Given the description of an element on the screen output the (x, y) to click on. 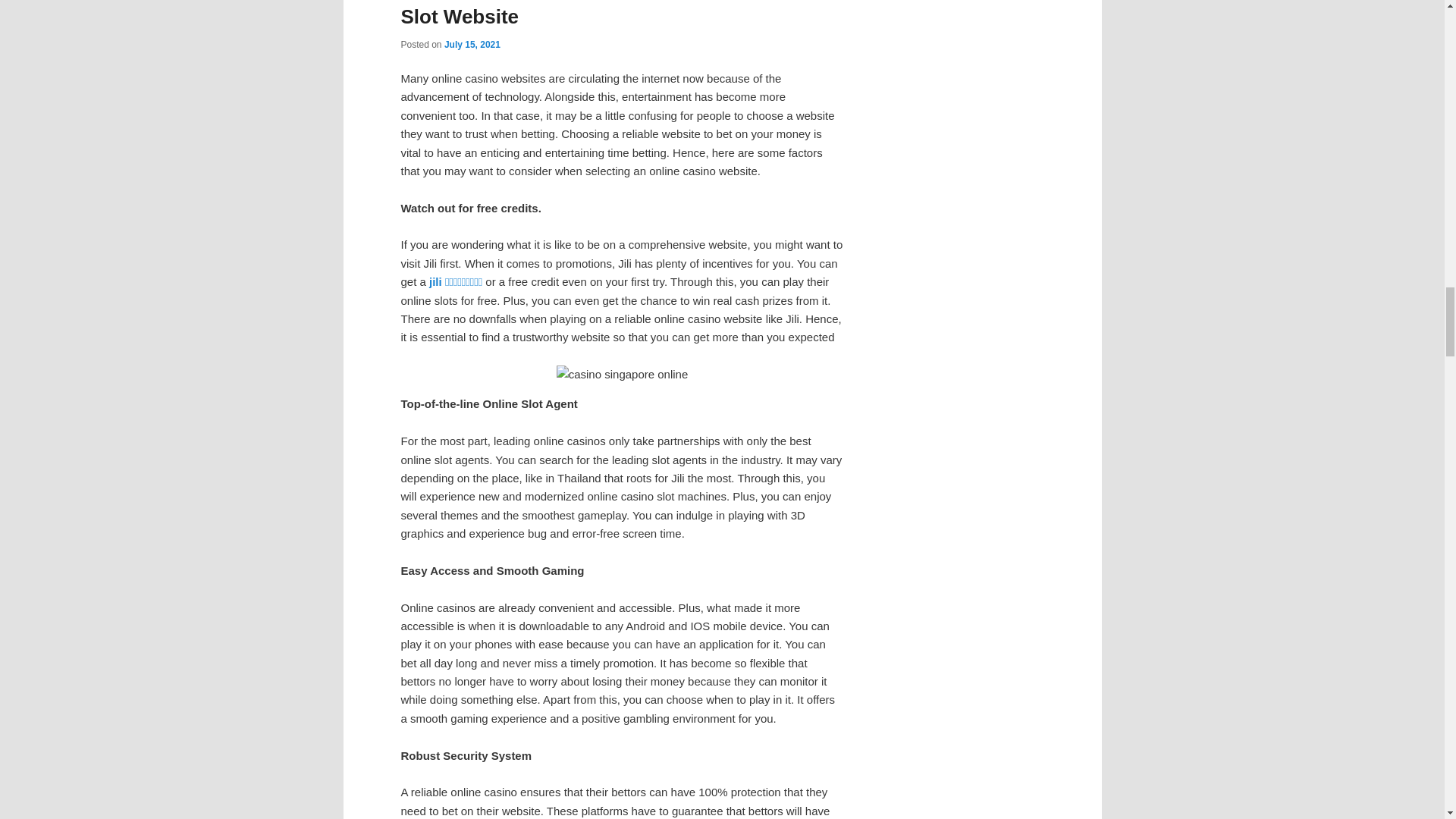
July 15, 2021 (472, 44)
Selecting the Most Outstanding Online Slot Website (581, 13)
8:04 am (472, 44)
